Given the description of an element on the screen output the (x, y) to click on. 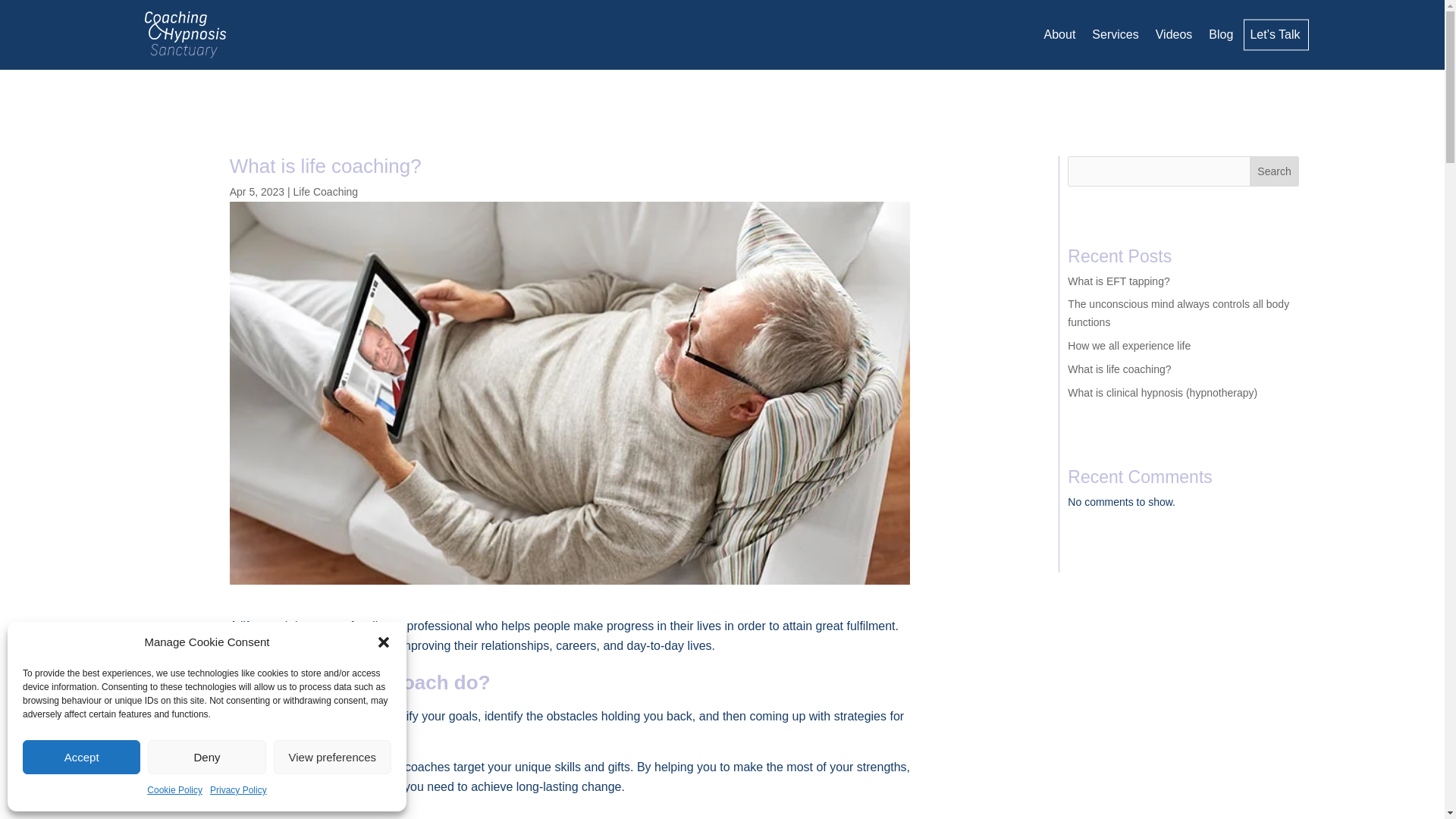
Accept (81, 756)
Privacy Policy (237, 791)
The unconscious mind always controls all body functions (1177, 313)
What is life coaching? (1118, 369)
Cookie Policy (174, 791)
What is EFT tapping? (1118, 281)
Life Coaching (326, 191)
How we all experience life (1129, 345)
View preferences (332, 756)
Search (1274, 171)
Deny (206, 756)
